Given the description of an element on the screen output the (x, y) to click on. 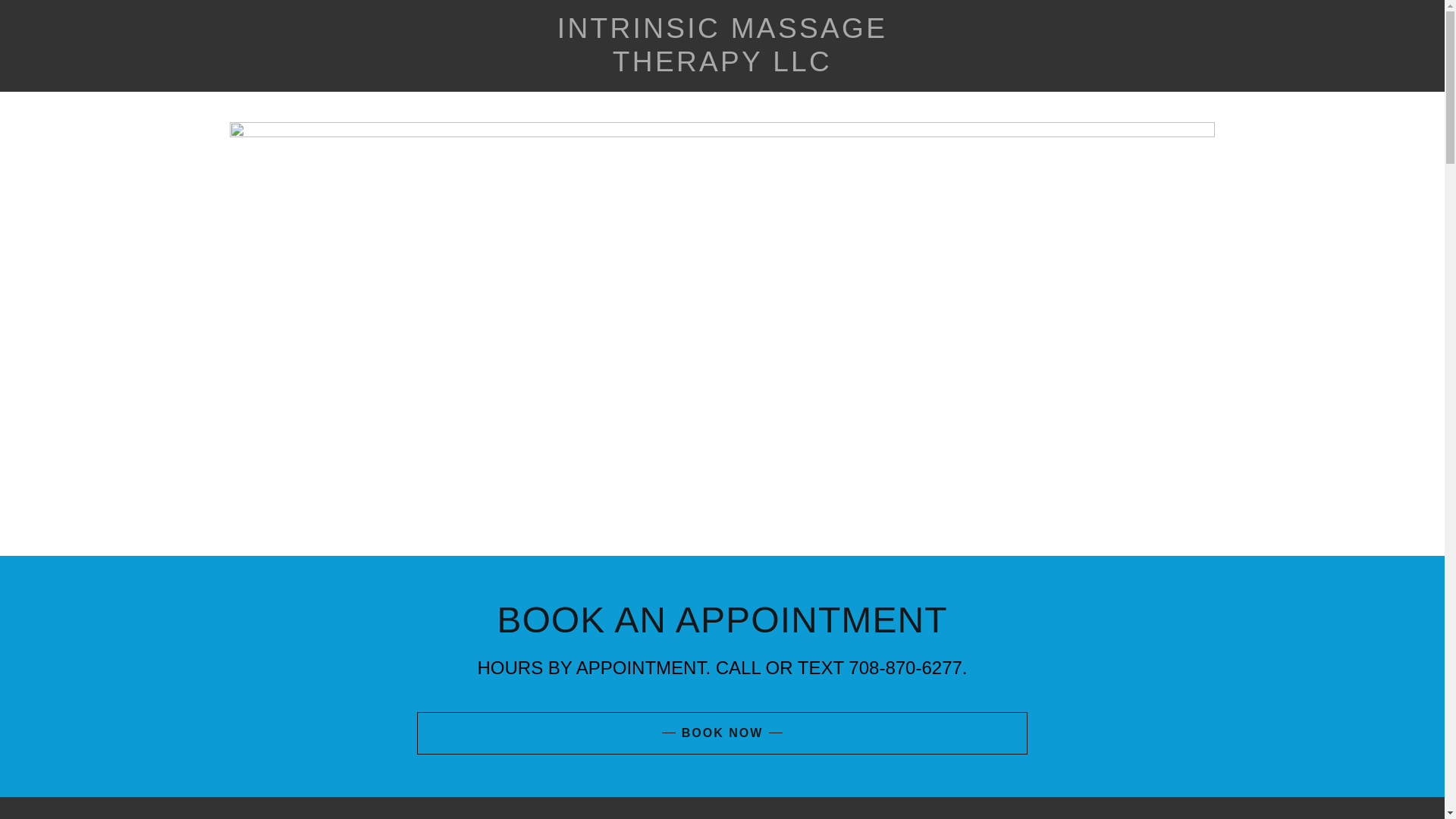
INTRINSIC MASSAGE THERAPY LLC (722, 66)
BOOK NOW (721, 732)
Intrinsic Massage Therapy LLC (722, 66)
